Given the description of an element on the screen output the (x, y) to click on. 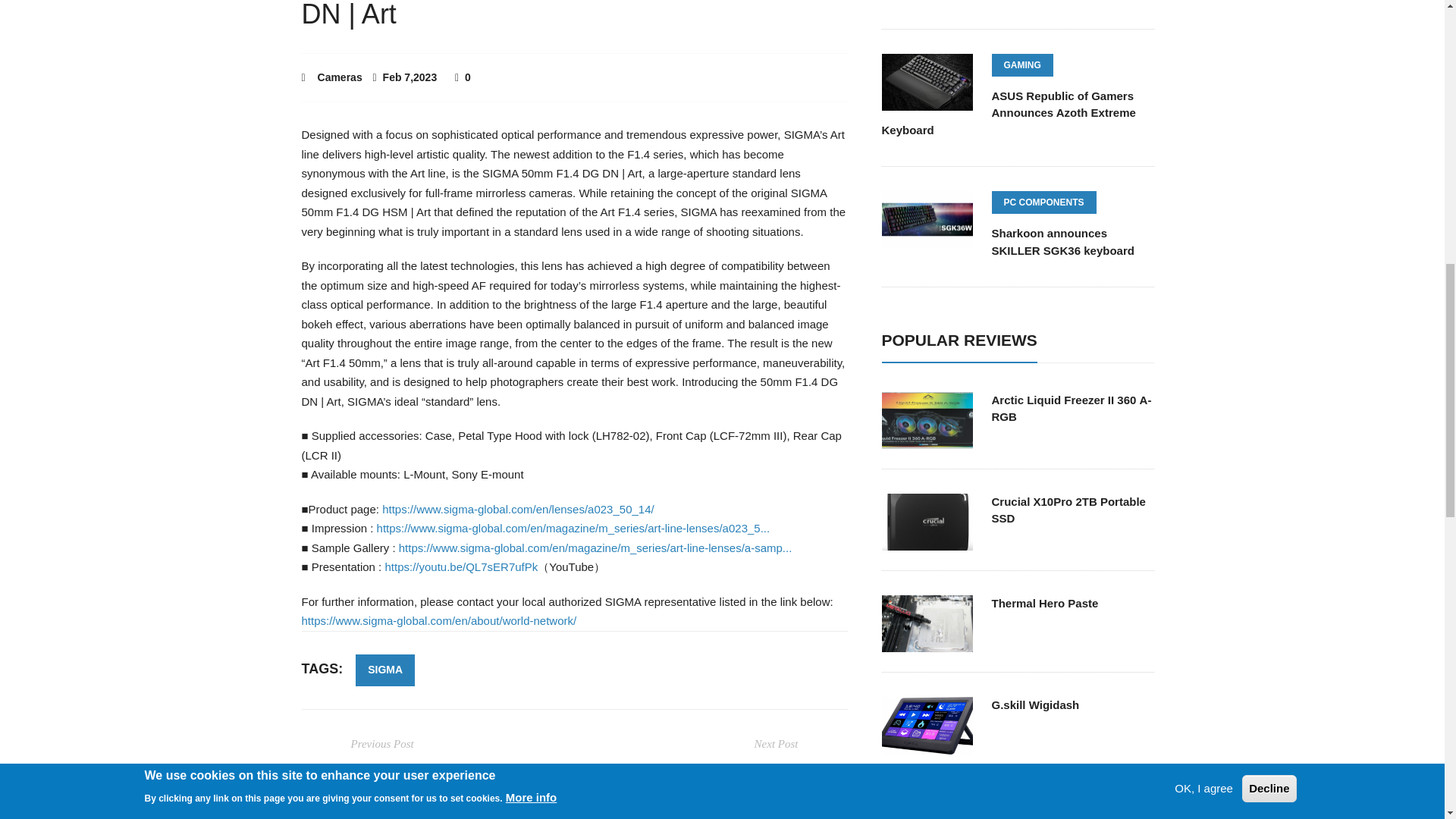
Cameras (339, 77)
